Given the description of an element on the screen output the (x, y) to click on. 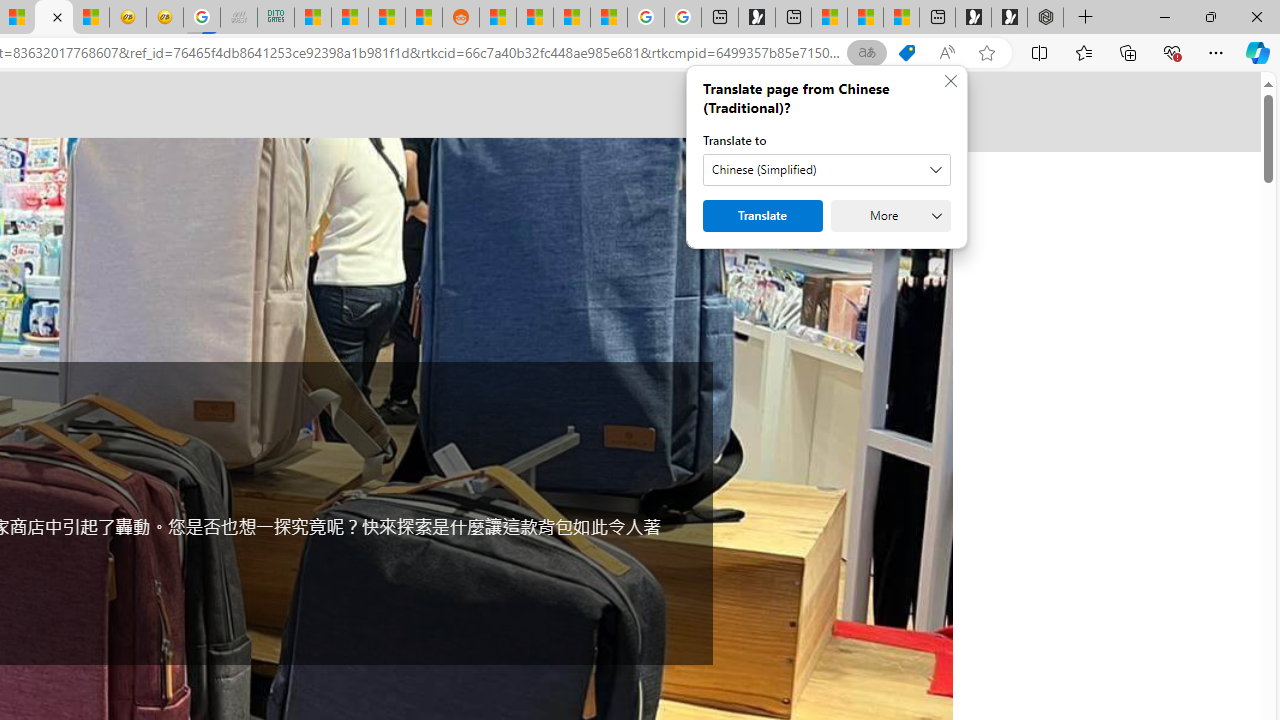
Show translate options (867, 53)
Translate (762, 215)
This site has coupons! Shopping in Microsoft Edge (906, 53)
